Given the description of an element on the screen output the (x, y) to click on. 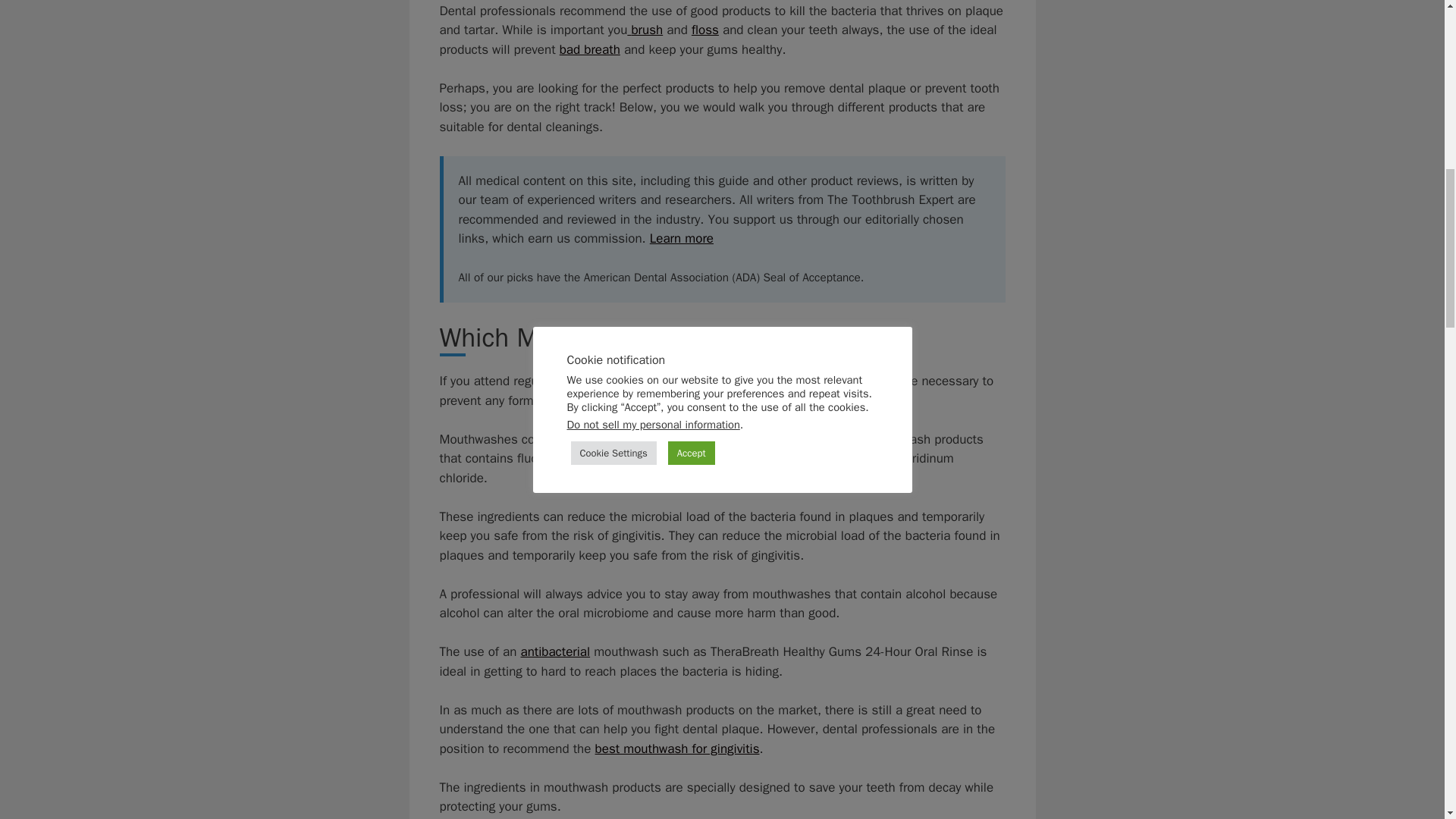
floss (705, 29)
Learn more (681, 238)
bad breath (589, 49)
brush (644, 29)
antibacterial (554, 651)
best mouthwash for gingivitis (677, 748)
